Given the description of an element on the screen output the (x, y) to click on. 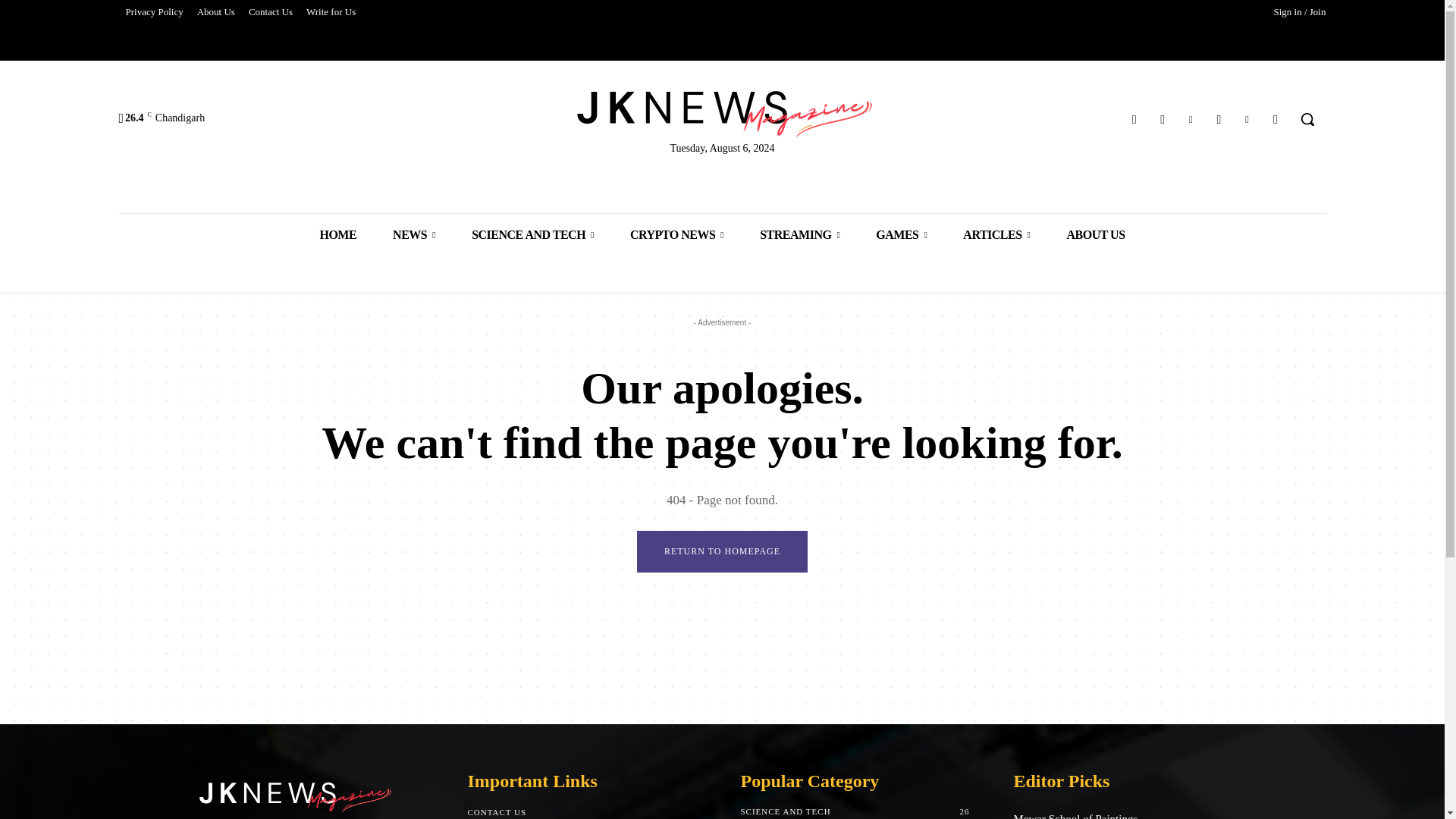
Instagram (1163, 118)
Linkedin (1190, 118)
NEWS (413, 234)
Contact Us (270, 12)
Write for Us (330, 12)
Privacy Policy (153, 12)
Facebook (1134, 118)
About Us (215, 12)
Pinterest (1246, 118)
Mix (1218, 118)
